Given the description of an element on the screen output the (x, y) to click on. 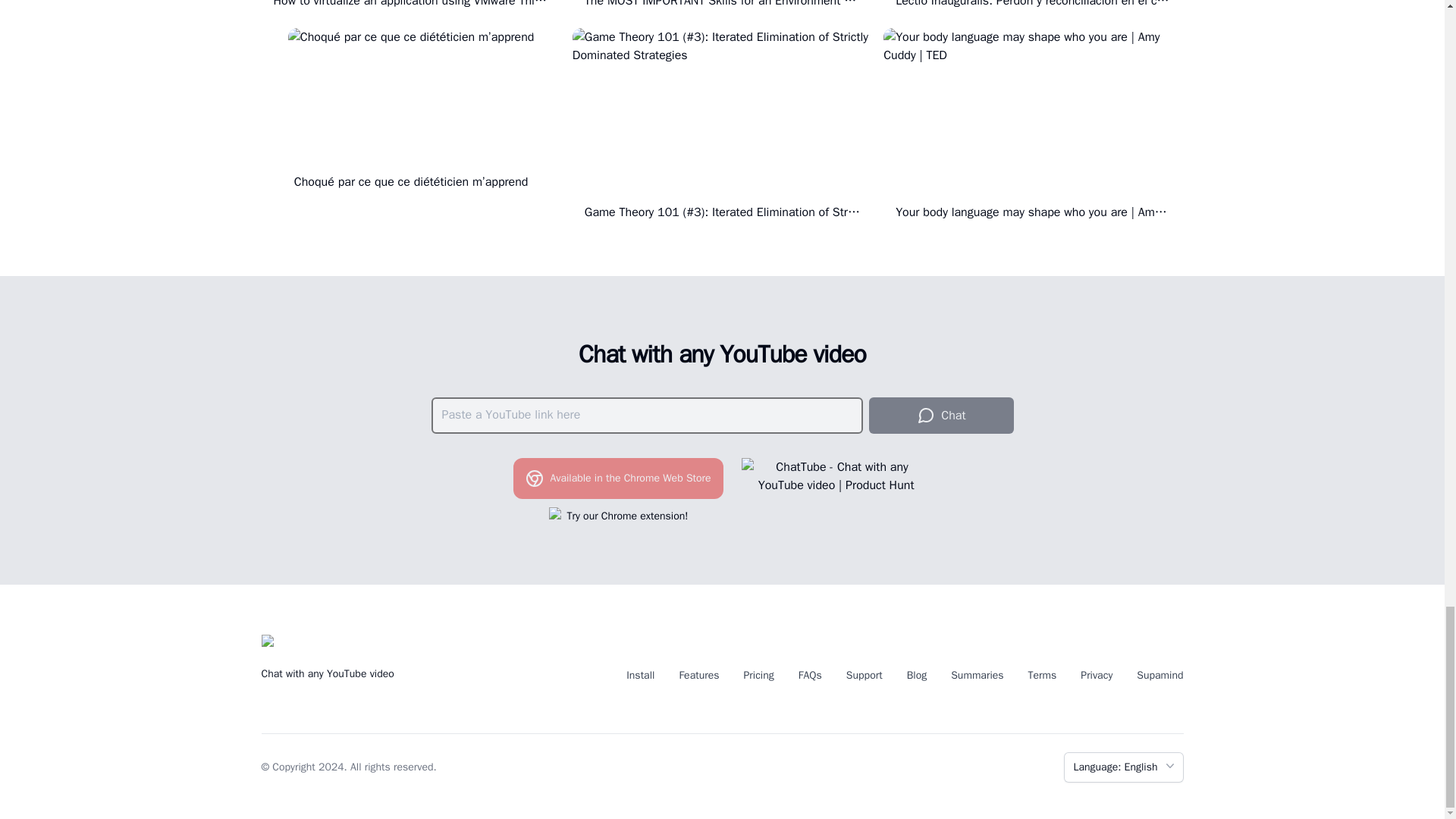
Language: English (1123, 767)
Install (640, 675)
Features (698, 675)
Chat with any YouTube video (721, 354)
Supamind (1159, 675)
Summaries (976, 675)
FAQs (810, 675)
Chat (941, 415)
The MOST IMPORTANT Skills for an Environment Artist (722, 4)
Support (864, 675)
